Given the description of an element on the screen output the (x, y) to click on. 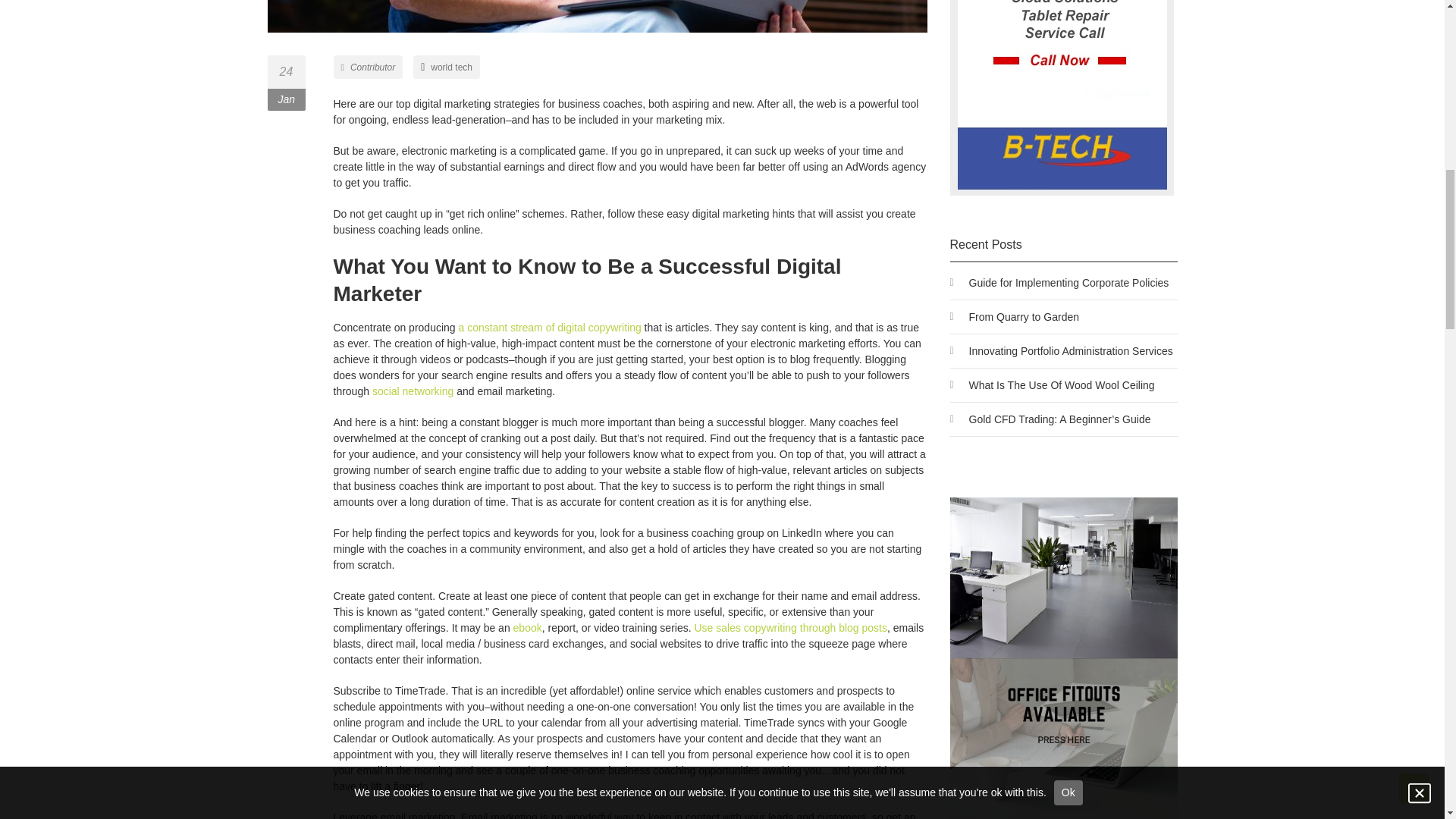
Digital Marketing for Business Coaches (596, 16)
ebook (527, 627)
From Quarry to Garden (1024, 316)
Contributor (368, 67)
What Is The Use Of Wood Wool Ceiling (1061, 385)
Use sales copywriting through blog posts (790, 627)
social networking (414, 390)
a constant stream of digital copywriting (549, 327)
Innovating Portfolio Administration Services (1071, 350)
Contributor (368, 67)
Guide for Implementing Corporate Policies (1069, 282)
world tech (450, 67)
